Given the description of an element on the screen output the (x, y) to click on. 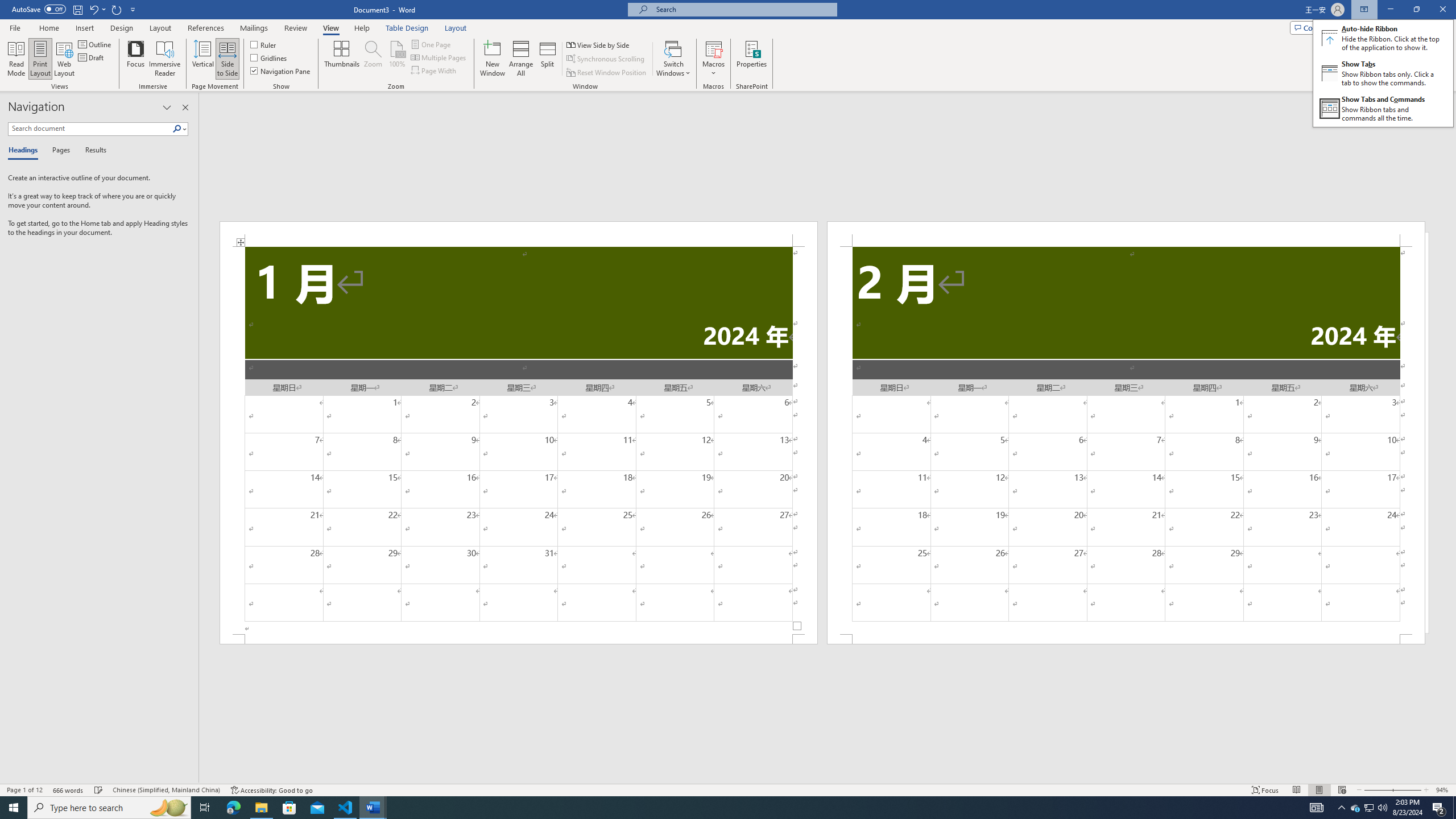
New Window (492, 58)
